Given the description of an element on the screen output the (x, y) to click on. 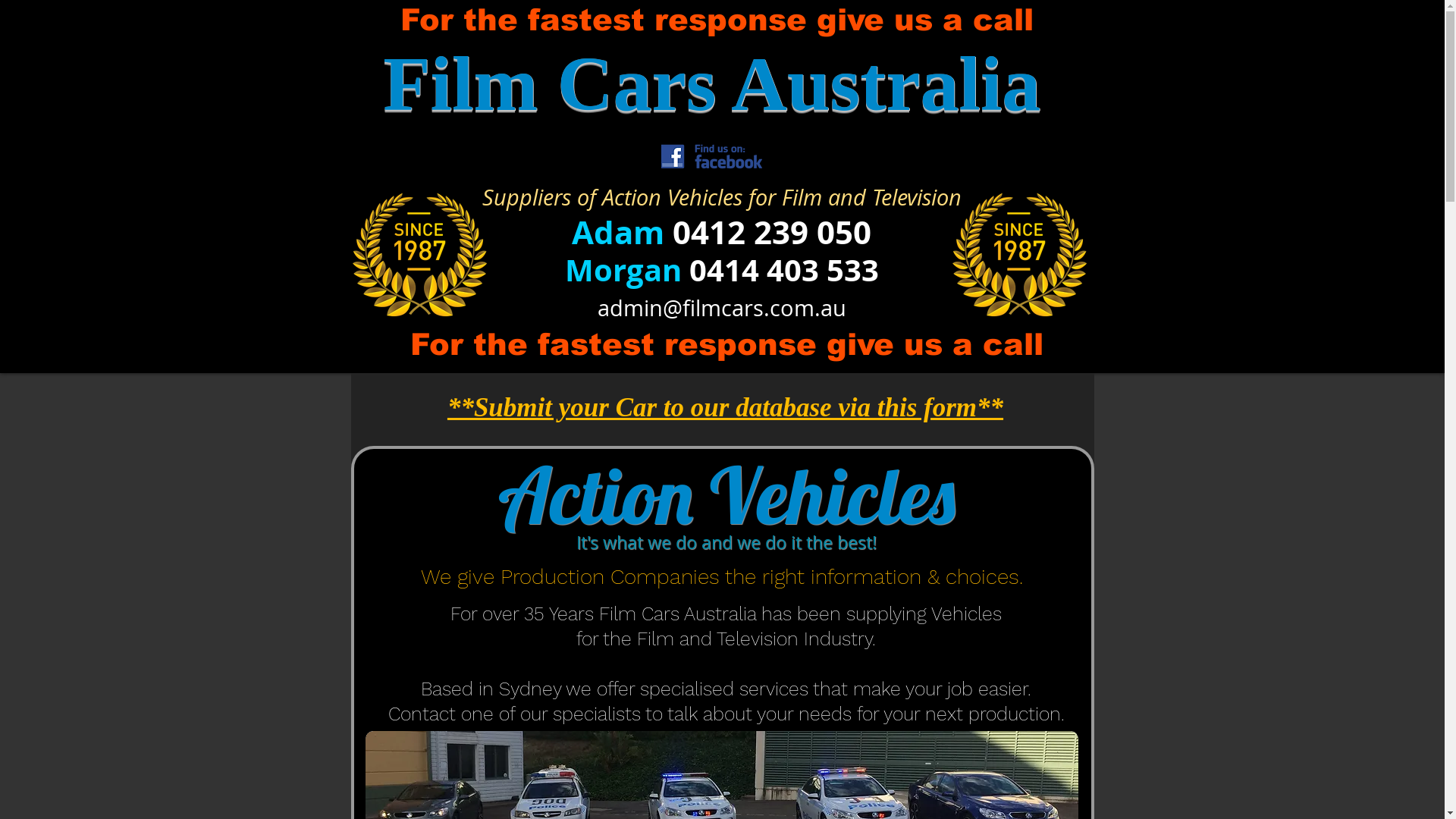
admin@filmcars.com.au Element type: text (721, 307)
**Submit your Car to our database via this form** Element type: text (725, 407)
